Given the description of an element on the screen output the (x, y) to click on. 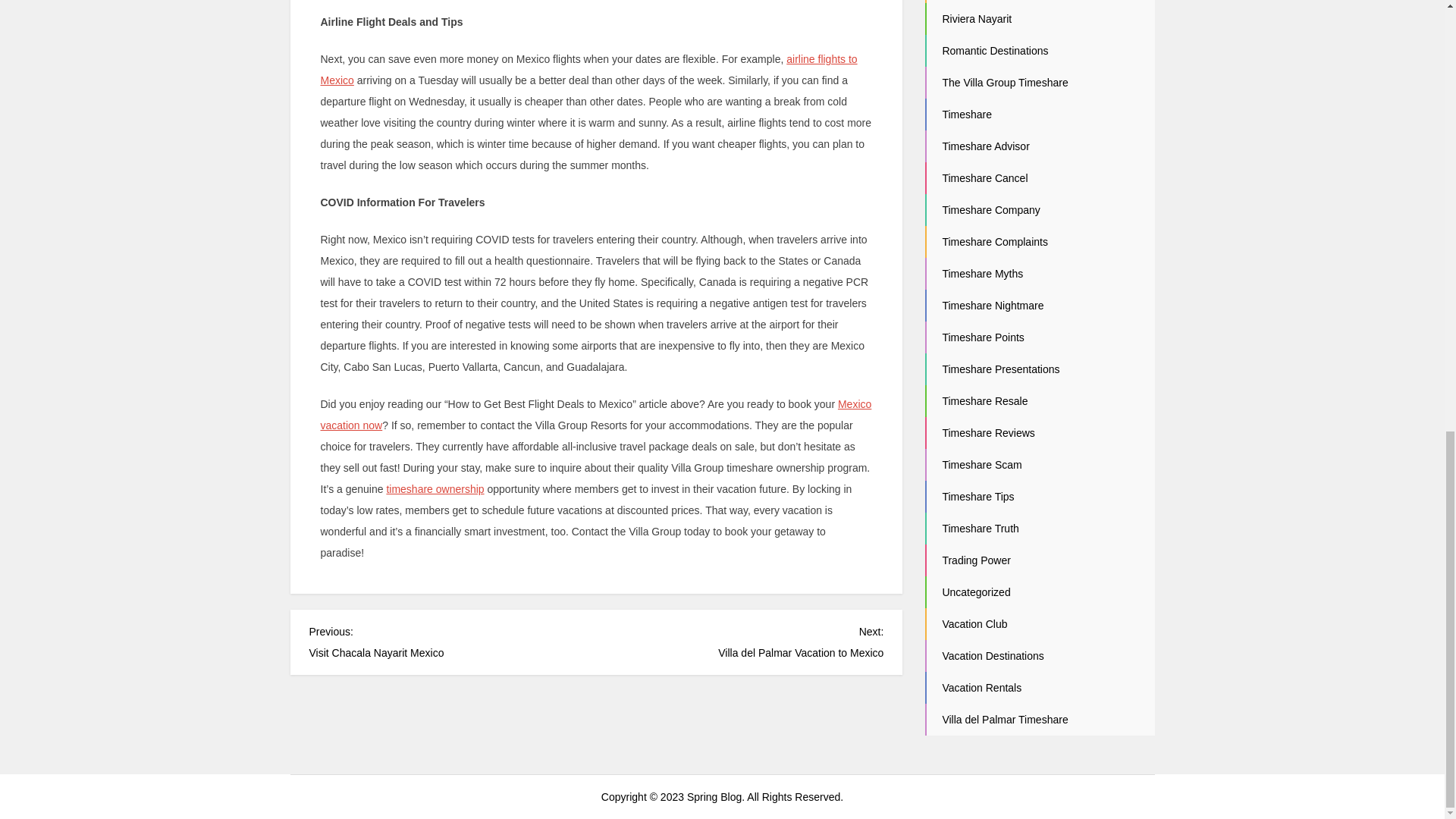
Mexico vacation now (739, 639)
Romantic Destinations (595, 414)
The Villa Group Timeshare (995, 50)
Riviera Nayarit (1004, 82)
timeshare ownership (452, 639)
Timeshare Cancel (976, 19)
airline flights to Mexico (434, 489)
Timeshare Advisor (984, 177)
